Given the description of an element on the screen output the (x, y) to click on. 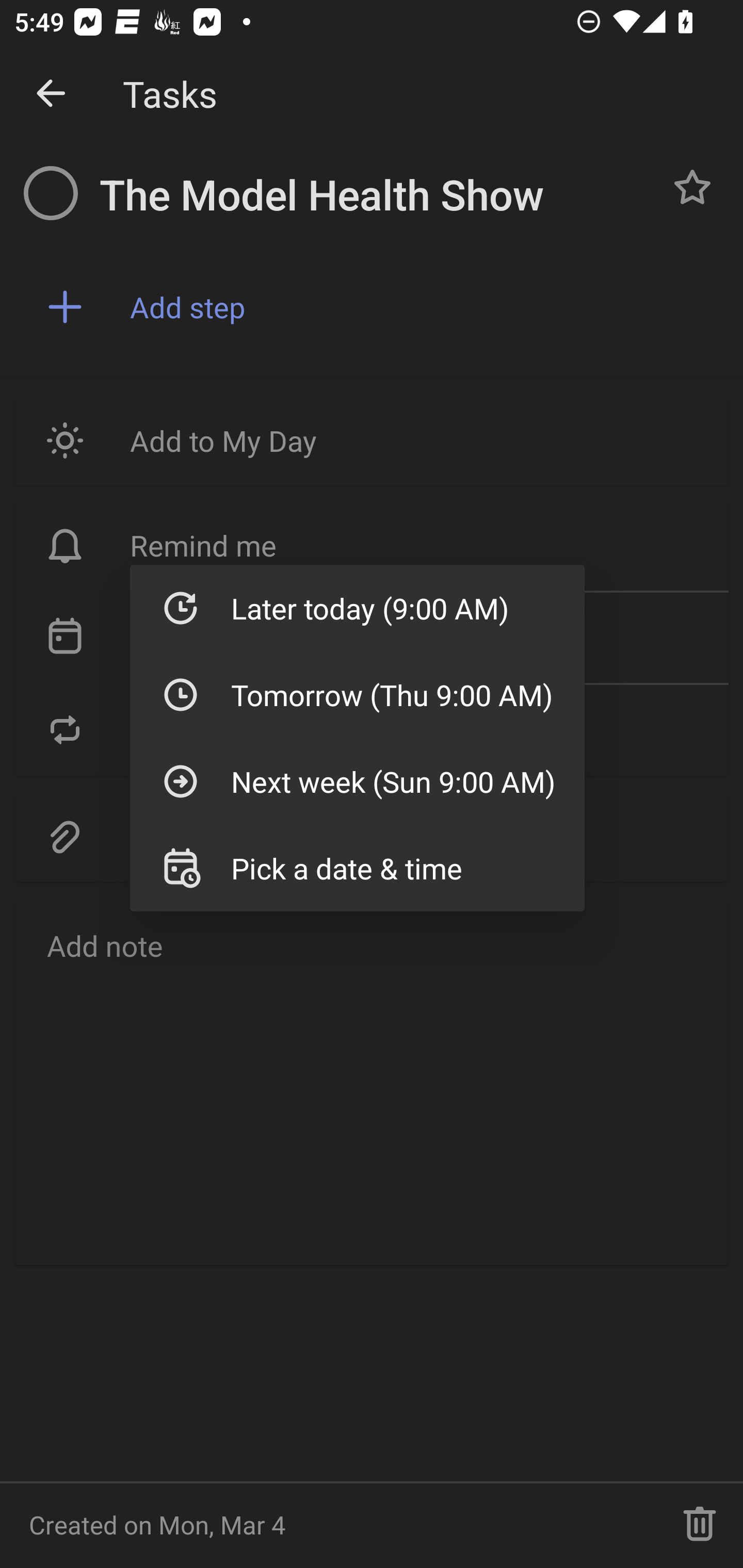
Later today (9:00 AM) (357, 607)
Tomorrow (Thu 9:00 AM) (357, 694)
Next week (Sun 9:00 AM) (357, 781)
Pick a date & time (357, 867)
